Given the description of an element on the screen output the (x, y) to click on. 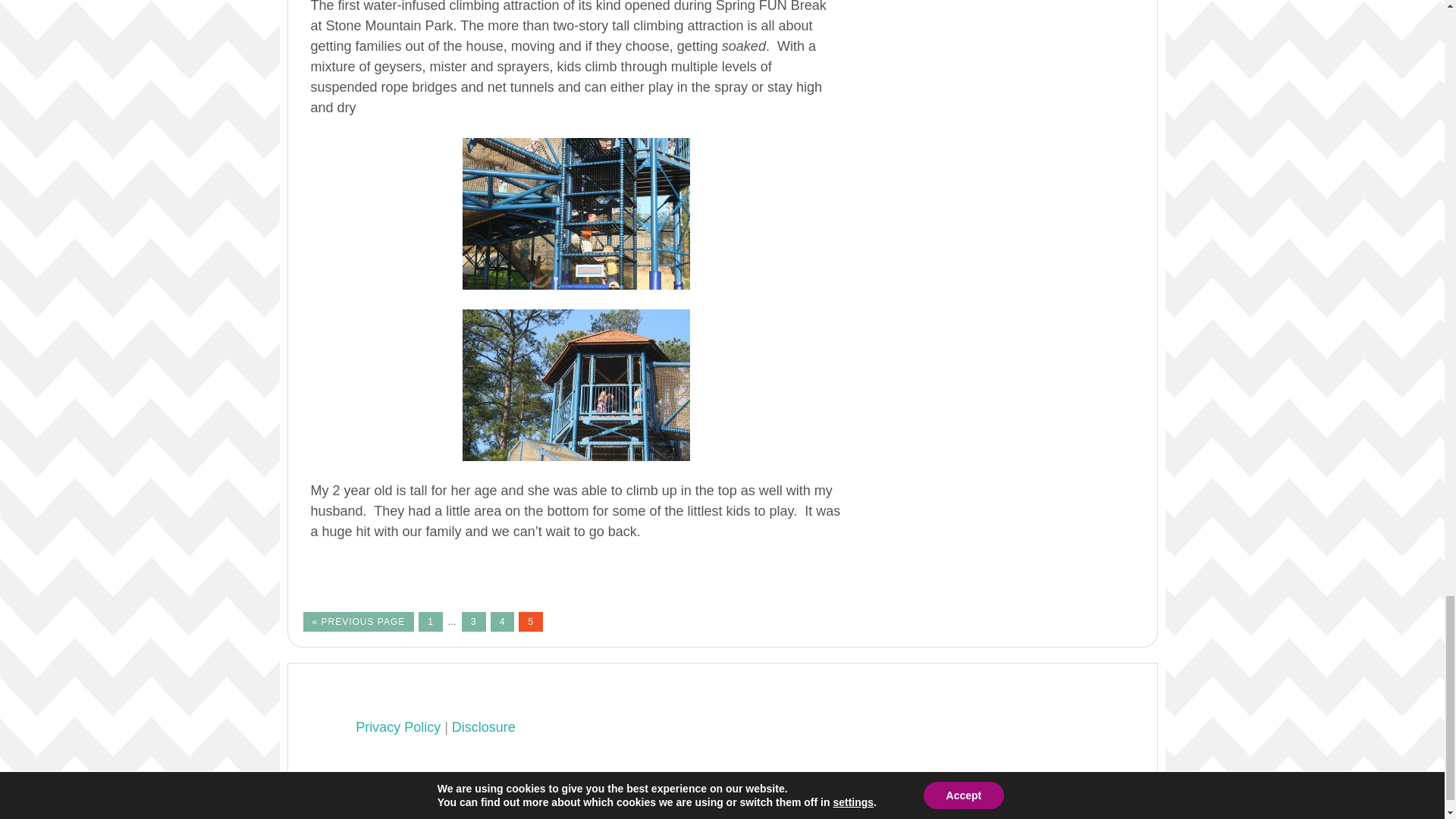
5 (530, 621)
1 (430, 621)
4 (502, 621)
3 (473, 621)
